Given the description of an element on the screen output the (x, y) to click on. 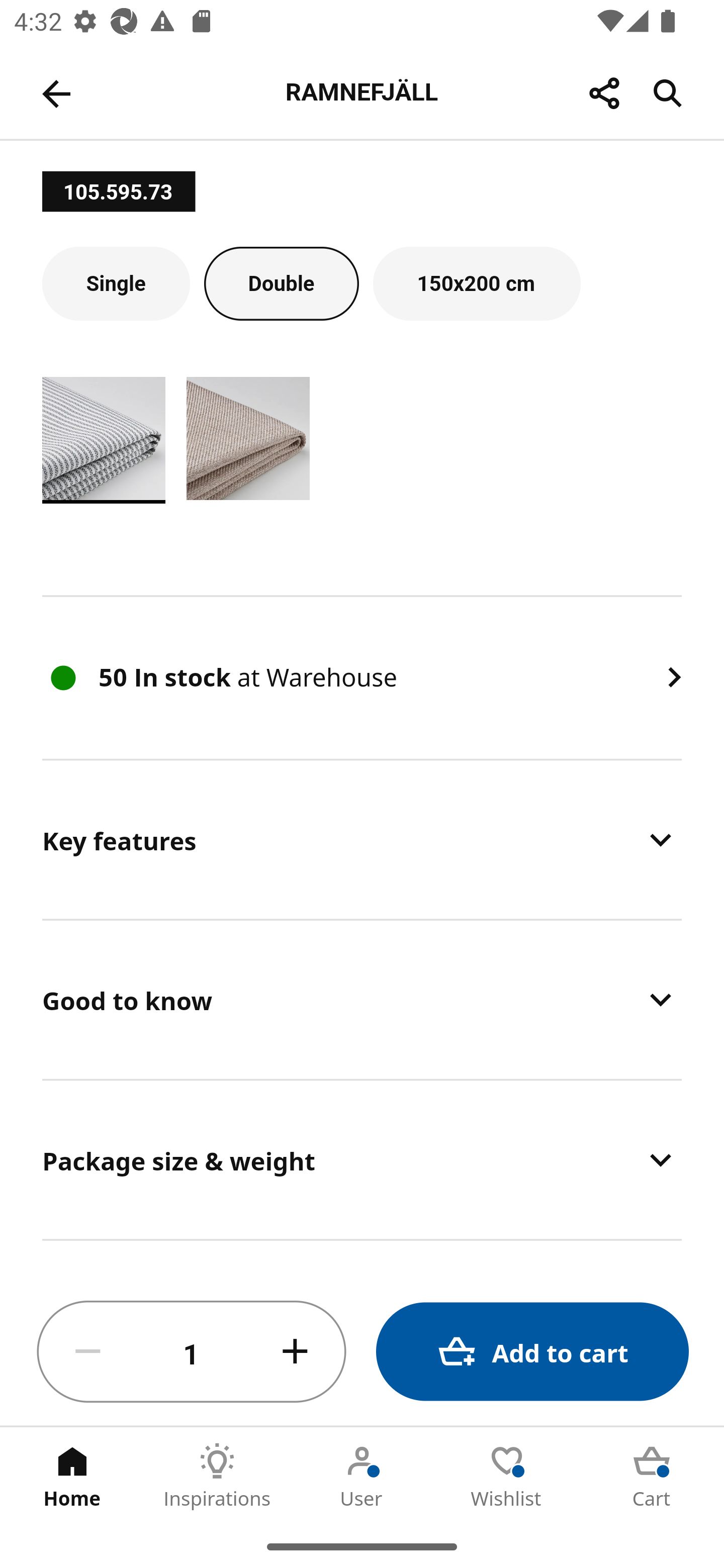
Single (115, 282)
Double (281, 282)
150x200 cm (476, 282)
50 In stock at Warehouse (361, 677)
Key features (361, 839)
Good to know (361, 999)
Package size & weight (361, 1159)
Add to cart (531, 1352)
1 (191, 1352)
Home
Tab 1 of 5 (72, 1476)
Inspirations
Tab 2 of 5 (216, 1476)
User
Tab 3 of 5 (361, 1476)
Wishlist
Tab 4 of 5 (506, 1476)
Cart
Tab 5 of 5 (651, 1476)
